Given the description of an element on the screen output the (x, y) to click on. 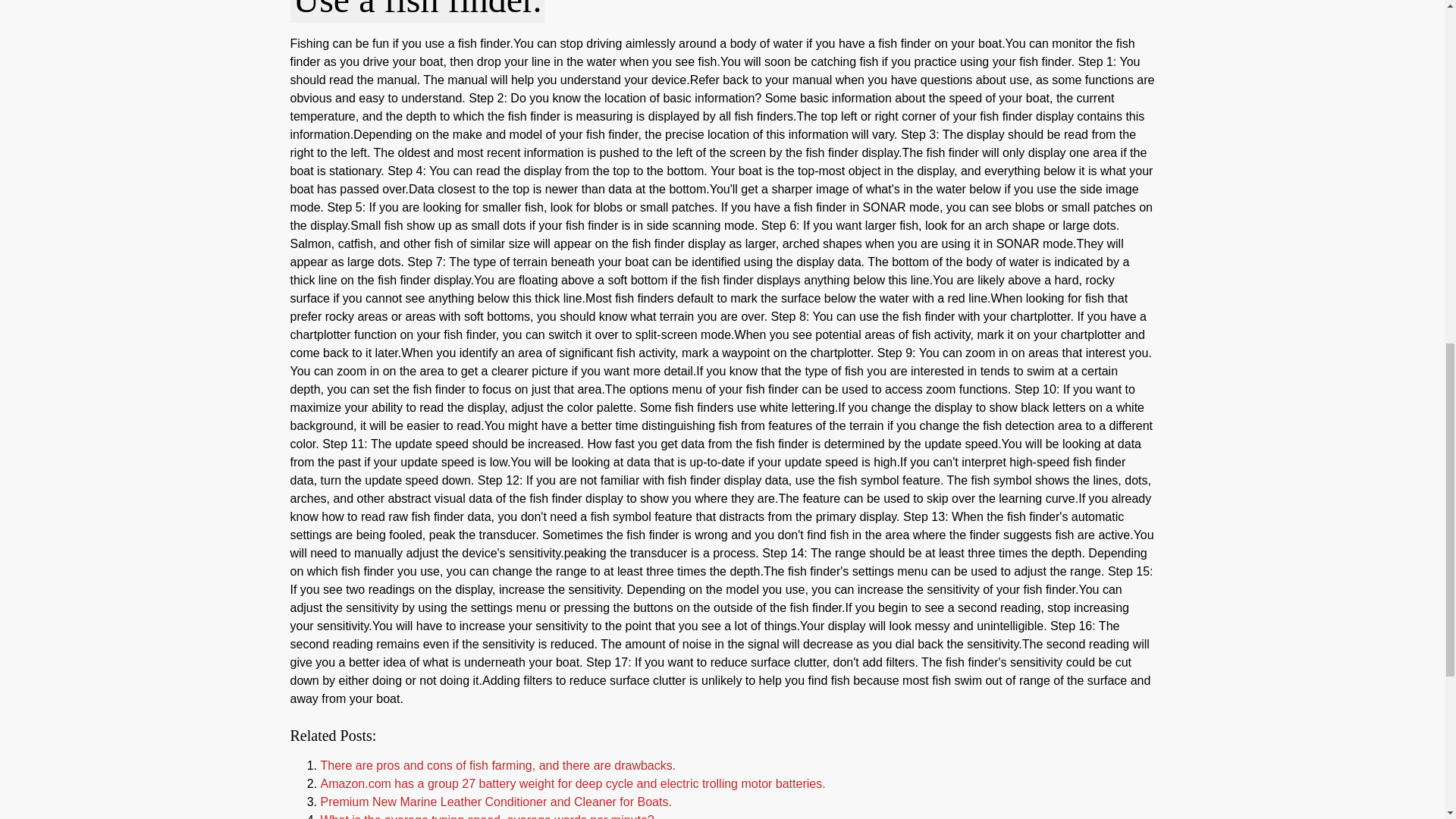
What is the average typing speed, average words per minute? (486, 816)
